Given the description of an element on the screen output the (x, y) to click on. 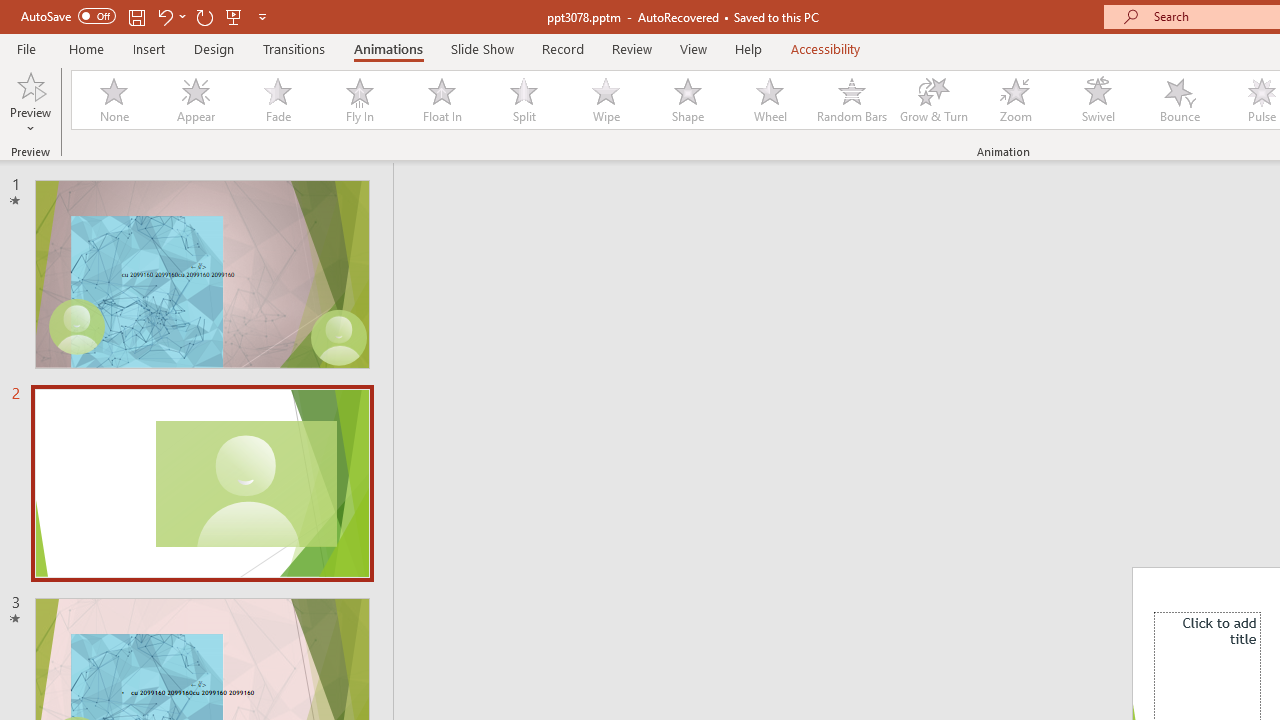
Bounce (1180, 100)
Wipe (605, 100)
Wheel (770, 100)
Random Bars (852, 100)
